Given the description of an element on the screen output the (x, y) to click on. 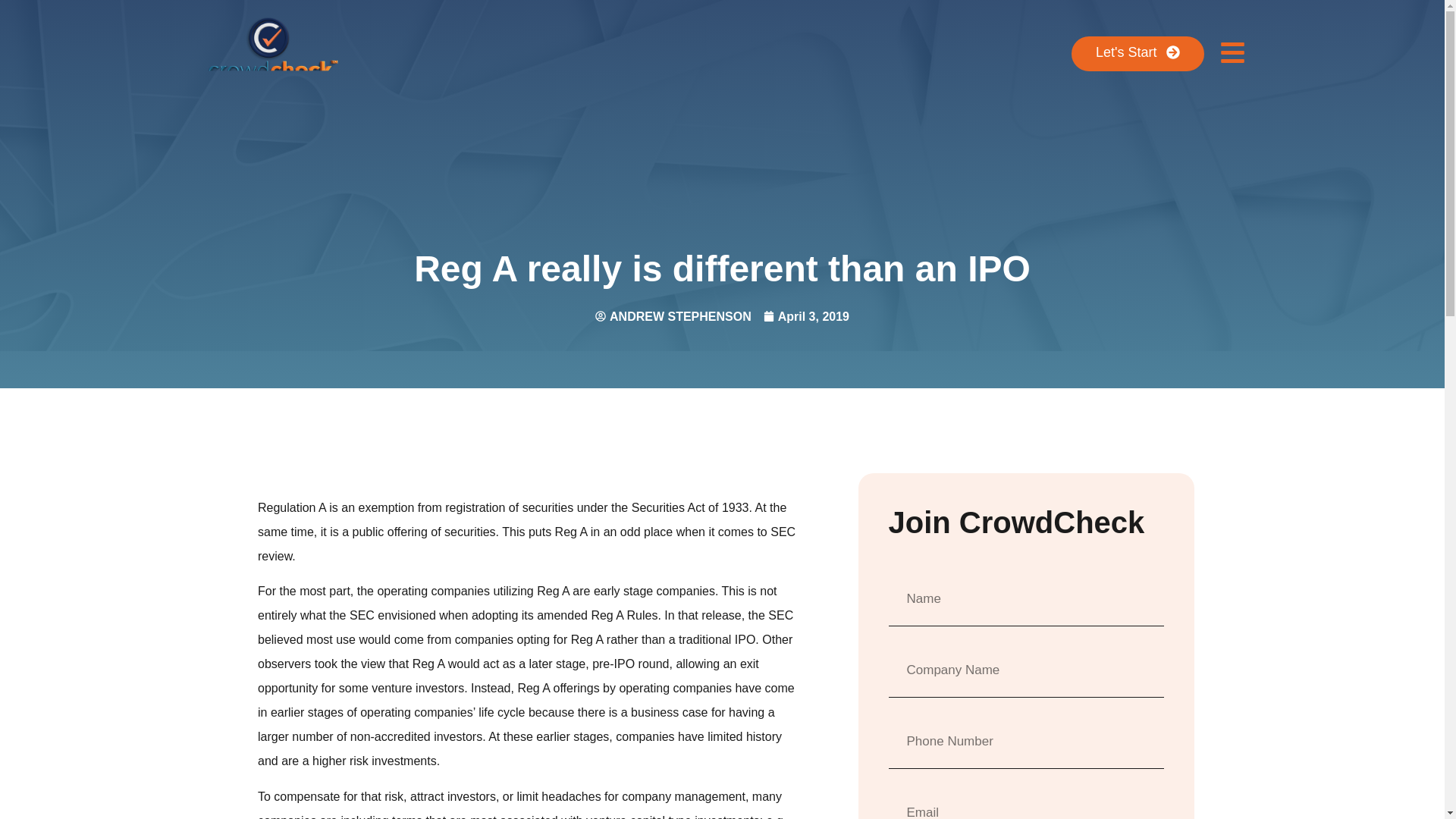
Let's Start (1137, 53)
